Given the description of an element on the screen output the (x, y) to click on. 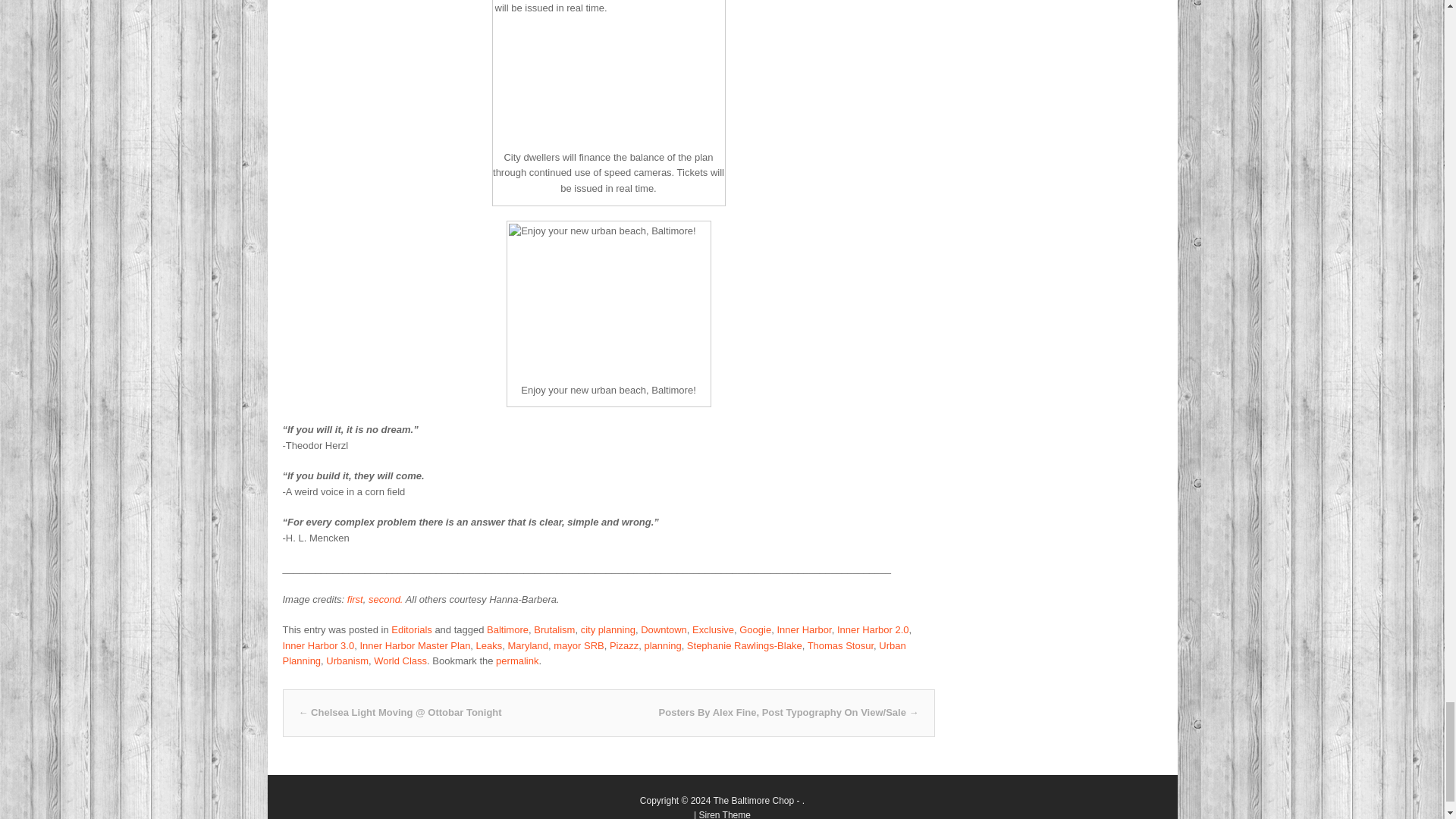
Permalink to Leaked!!! The Real Inner Harbor Master Plan (517, 660)
The Baltimore Chop (753, 800)
